Given the description of an element on the screen output the (x, y) to click on. 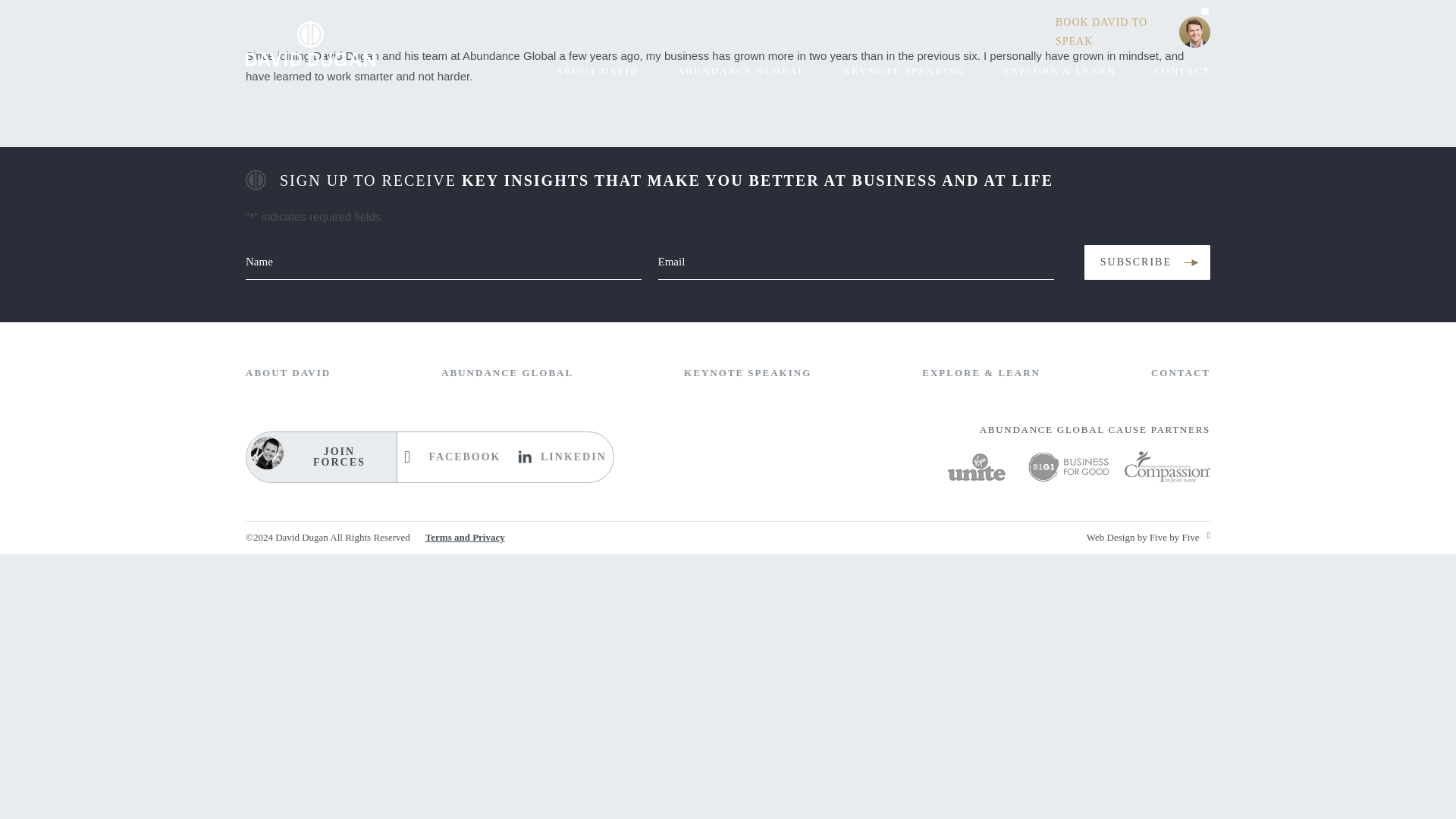
Subscribe (1146, 262)
LINKEDIN (558, 456)
KEYNOTE SPEAKING (917, 72)
Terms and Privacy (465, 539)
FACEBOOK (450, 456)
Web Design by Five by Five (1147, 539)
BOOK DAVID TO SPEAK (1142, 31)
CONTACT (1180, 369)
ABUNDANCE GLOBAL (507, 367)
ABOUT DAVID (288, 367)
Subscribe (1146, 256)
ABOUT DAVID (610, 72)
KEYNOTE SPEAKING (747, 368)
CONTACT (1192, 72)
JOIN FORCES (317, 456)
